Given the description of an element on the screen output the (x, y) to click on. 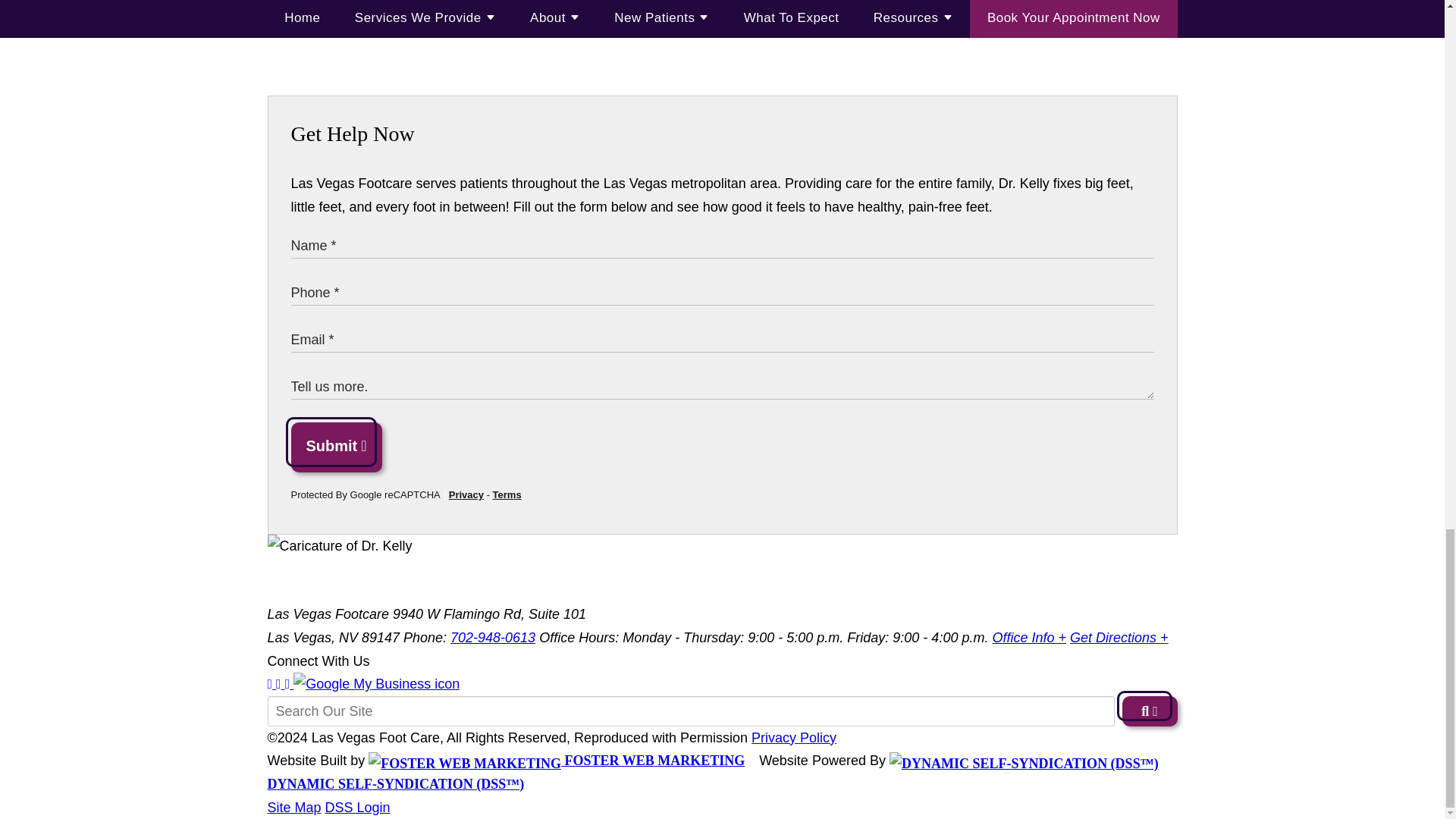
Search (1149, 711)
Terms (507, 494)
Privacy (465, 494)
Submit (336, 447)
